Given the description of an element on the screen output the (x, y) to click on. 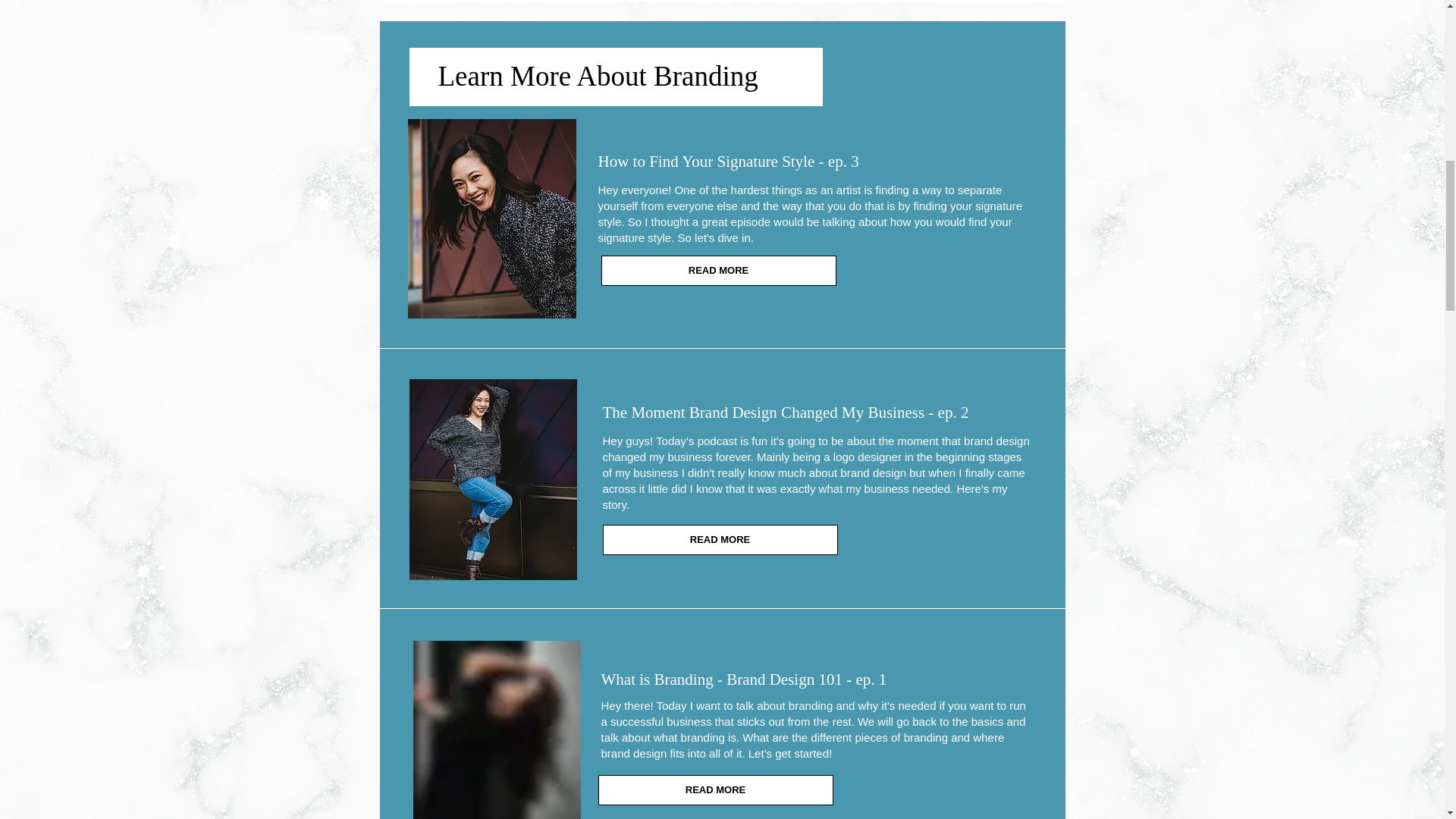
X59A8946.jpg (492, 479)
READ MORE (714, 789)
juneau-alaska-branding-rizza-zsquared-14 (491, 218)
READ MORE (717, 270)
READ MORE (719, 539)
